Given the description of an element on the screen output the (x, y) to click on. 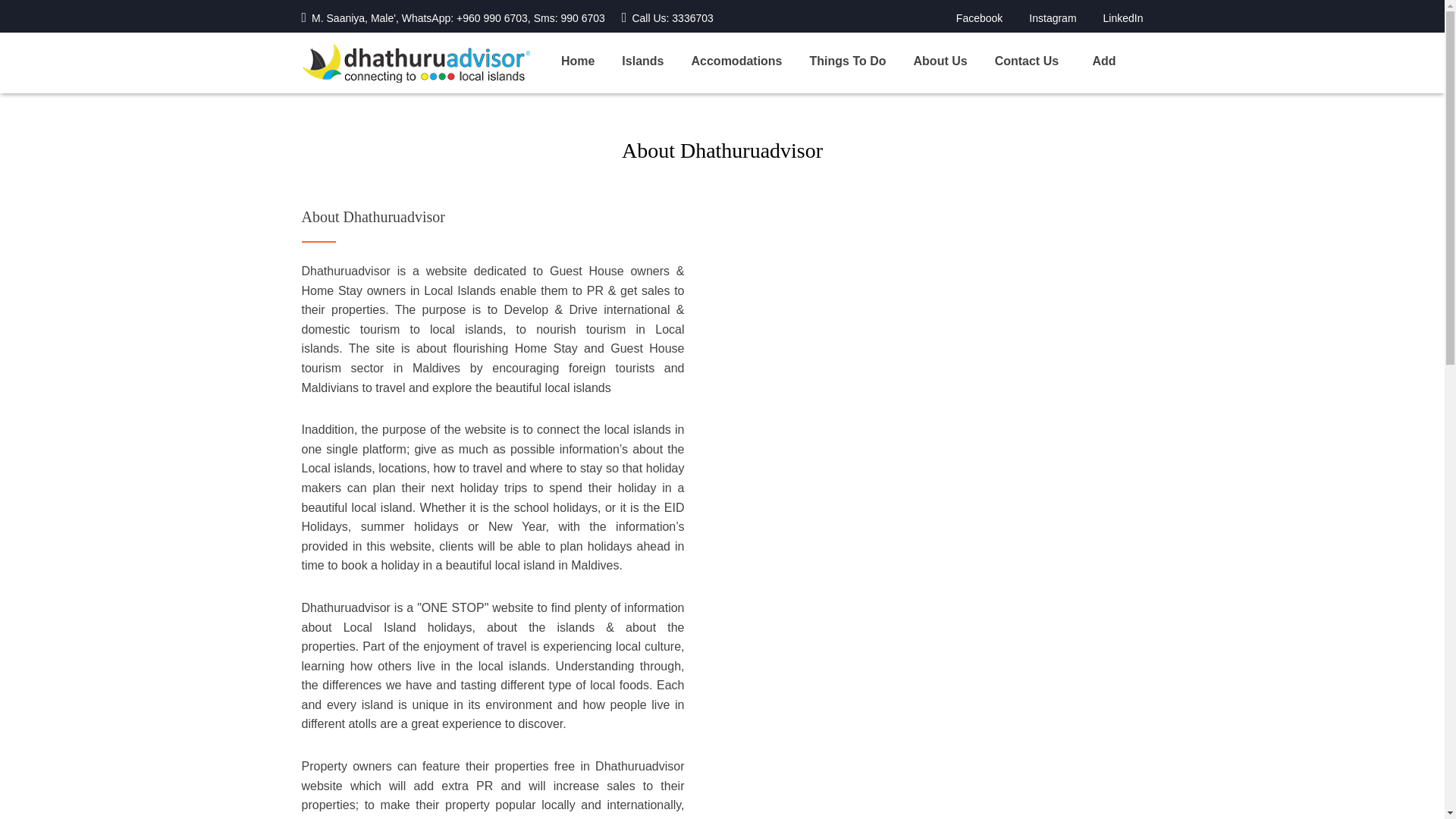
Home (590, 61)
About Us (954, 61)
LinkedIn (1122, 18)
Things To Do (861, 61)
Contact Us (1040, 61)
Islands (655, 61)
  Add (1114, 61)
Accomodations (750, 61)
Facebook (979, 18)
Instagram (1052, 18)
